Given the description of an element on the screen output the (x, y) to click on. 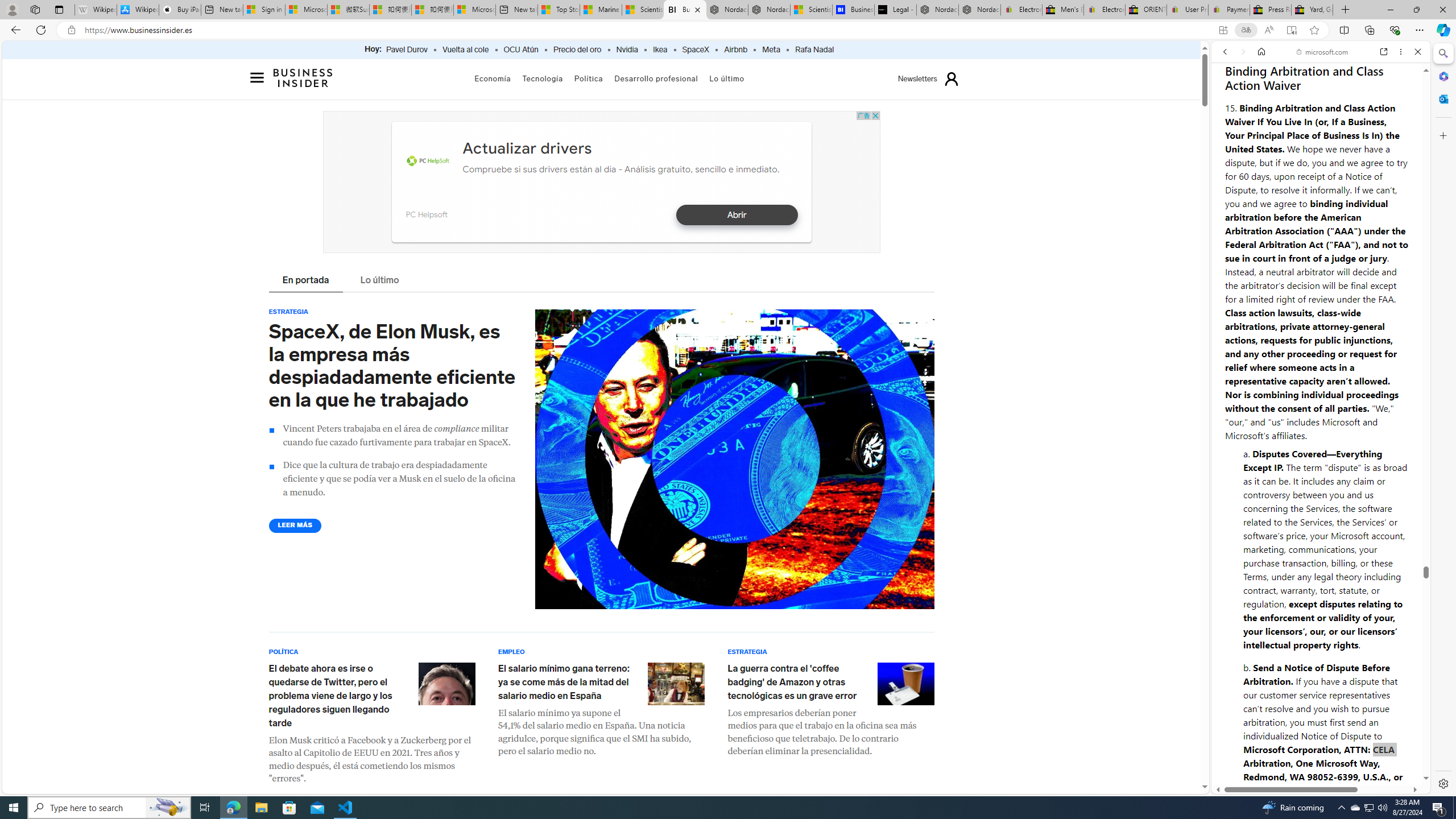
Open in New Tab (1321, 768)
Legal (1291, 751)
Top Stories - MSN (558, 9)
Pavel Durov (406, 49)
Electronics, Cars, Fashion, Collectibles & More | eBay (1103, 9)
Logo BusinessInsider.es (303, 80)
Payments Terms of Use | eBay.com (1229, 9)
Microsoft Services Agreement (306, 9)
Actualizar drivers (526, 148)
